Given the description of an element on the screen output the (x, y) to click on. 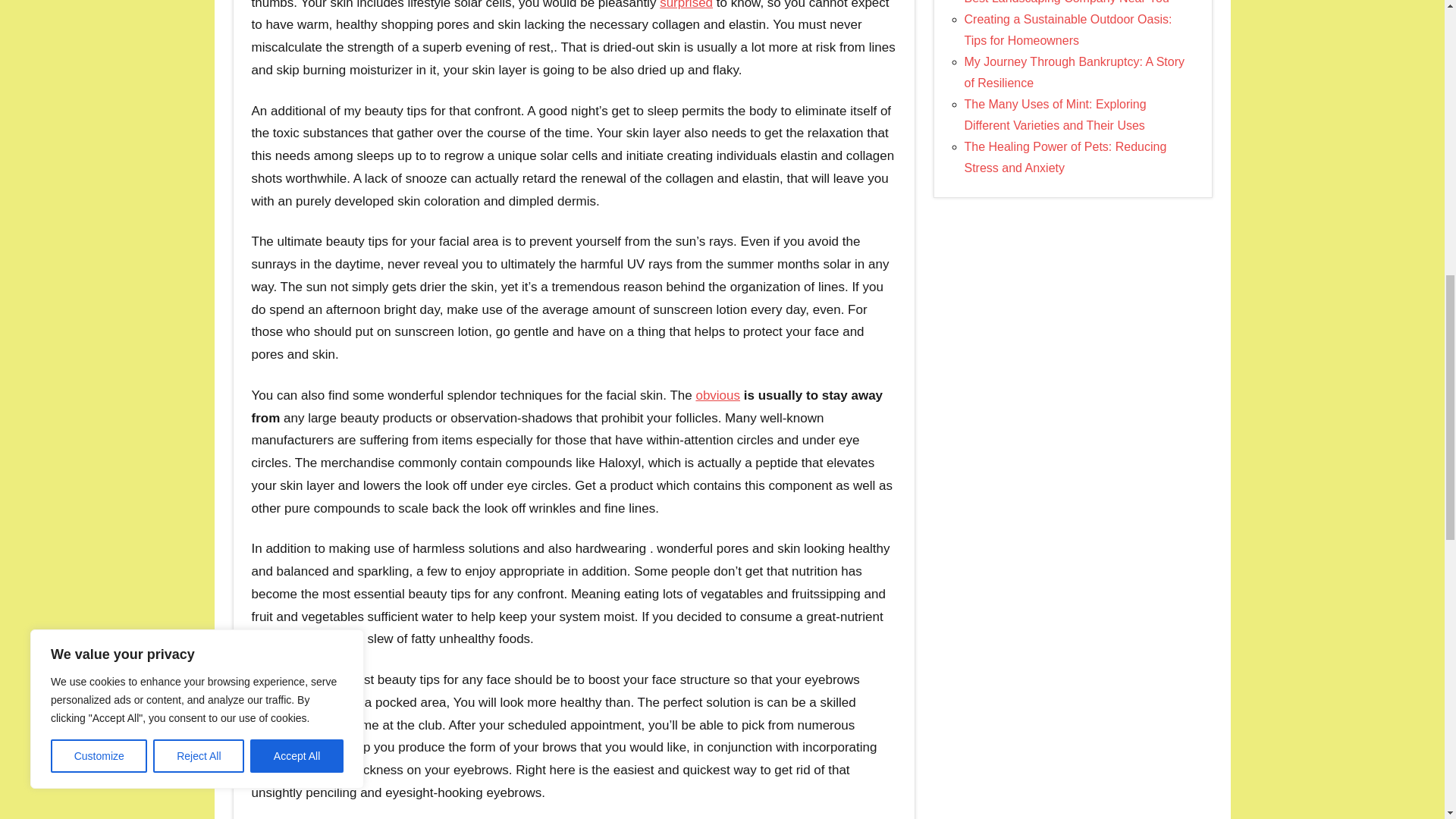
surprised (686, 4)
obvious (717, 395)
